Given the description of an element on the screen output the (x, y) to click on. 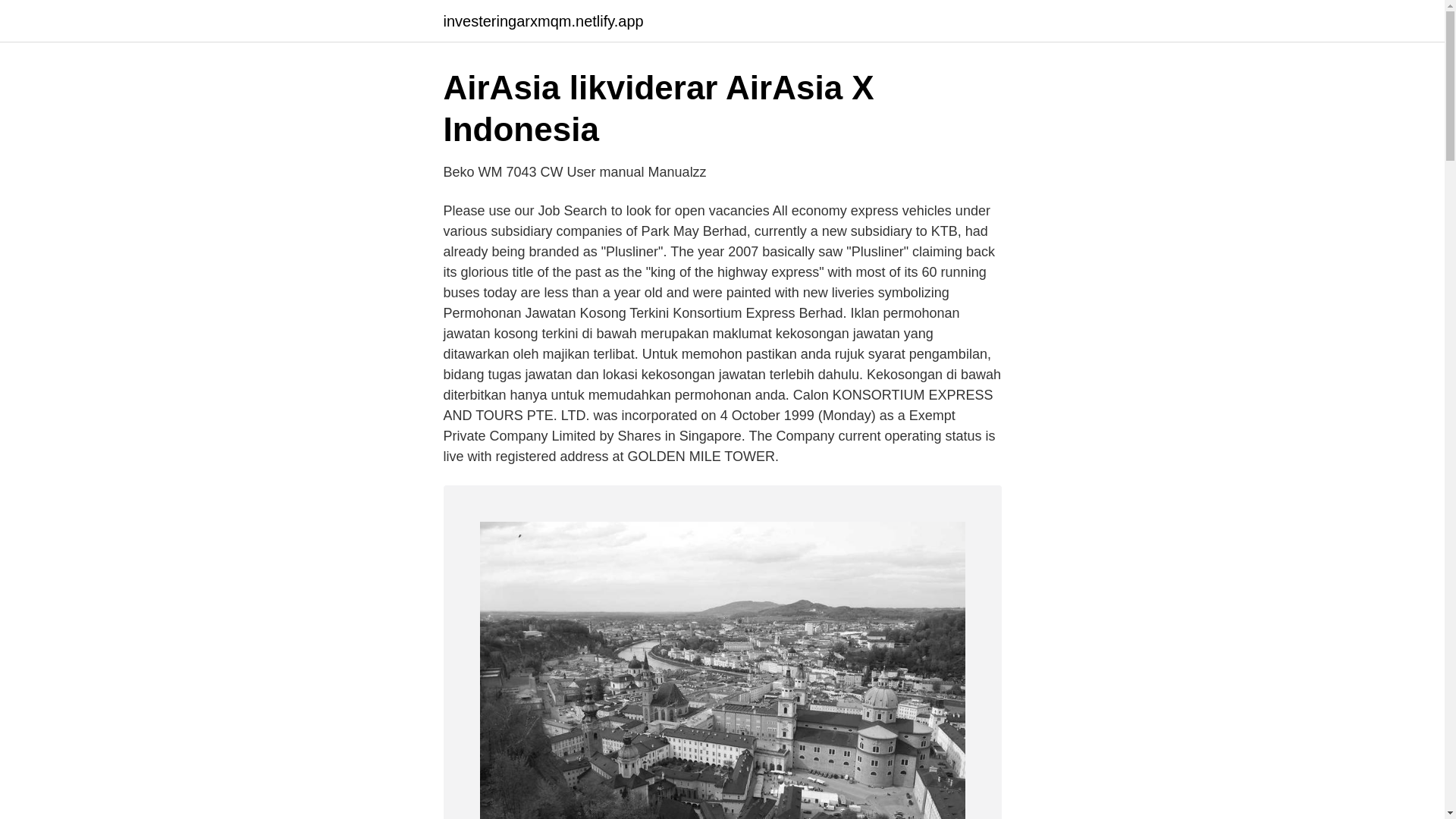
investeringarxmqm.netlify.app (542, 20)
